Given the description of an element on the screen output the (x, y) to click on. 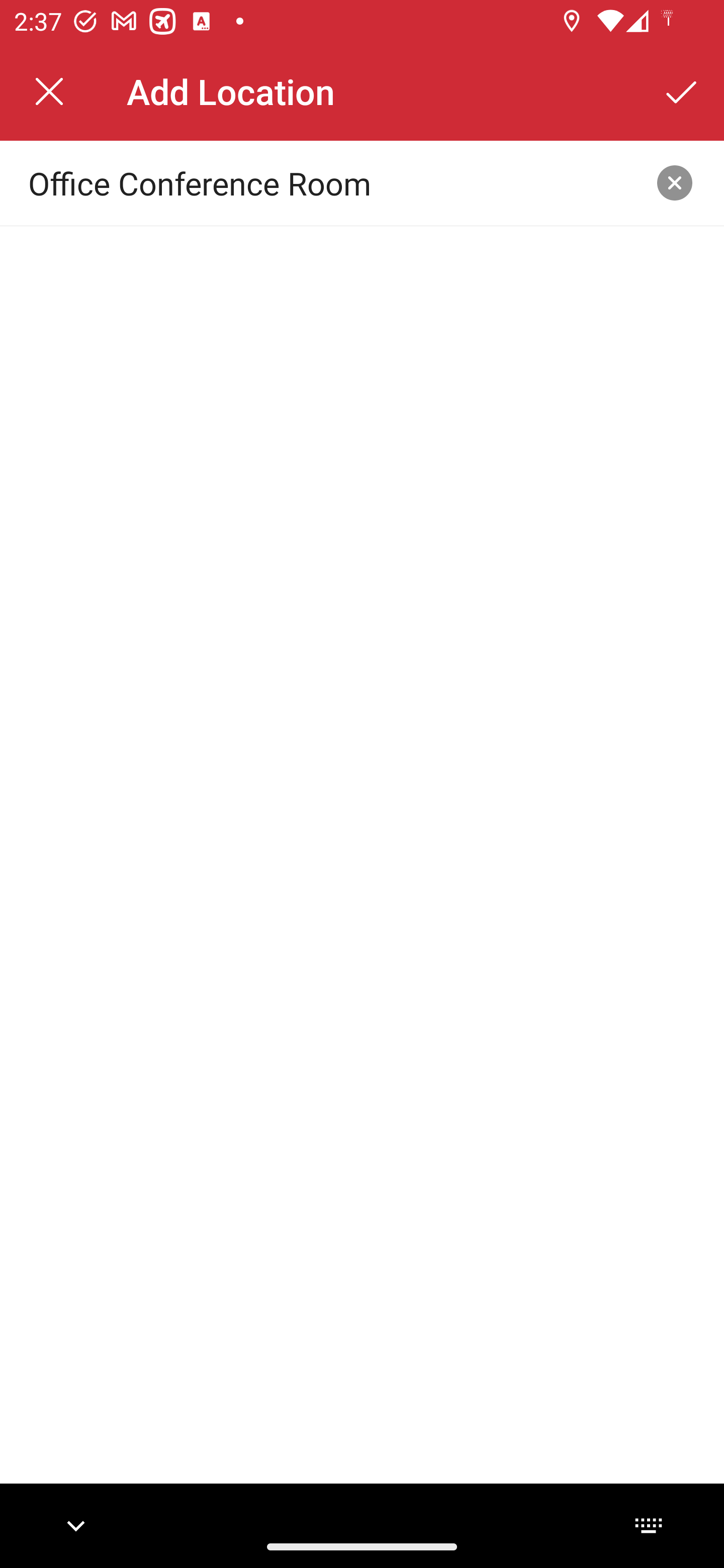
Close (49, 91)
Done (681, 91)
Clear location (674, 183)
Office Conference Room (330, 182)
